Given the description of an element on the screen output the (x, y) to click on. 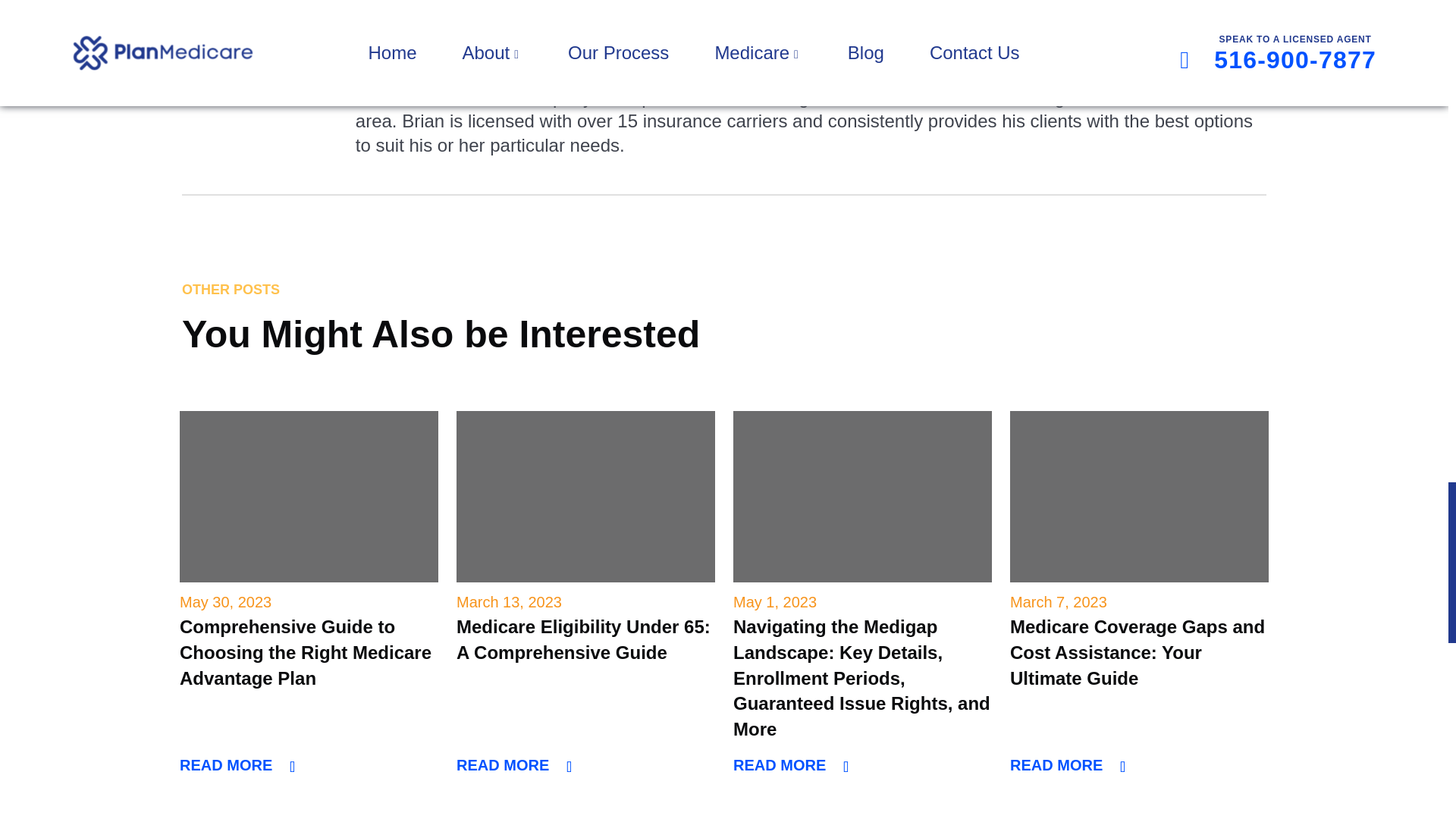
READ MORE (514, 764)
Medicare Eligibility Under 65: A Comprehensive Guide (585, 495)
